Given the description of an element on the screen output the (x, y) to click on. 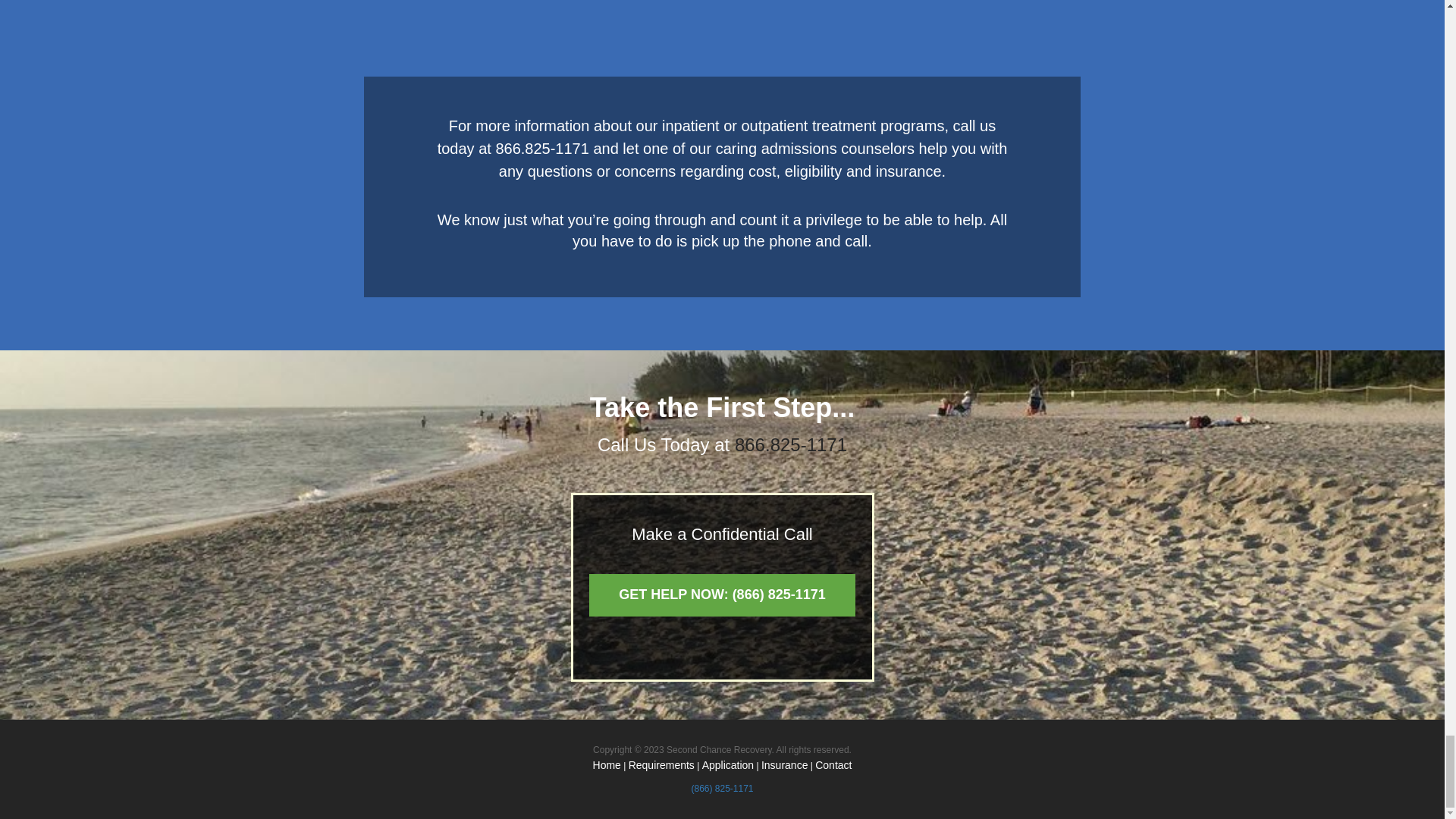
Home (606, 765)
Contact (833, 765)
Application (727, 765)
866.825-1171 (543, 148)
Requirements (661, 765)
Insurance (784, 765)
866.825-1171 (791, 444)
